Given the description of an element on the screen output the (x, y) to click on. 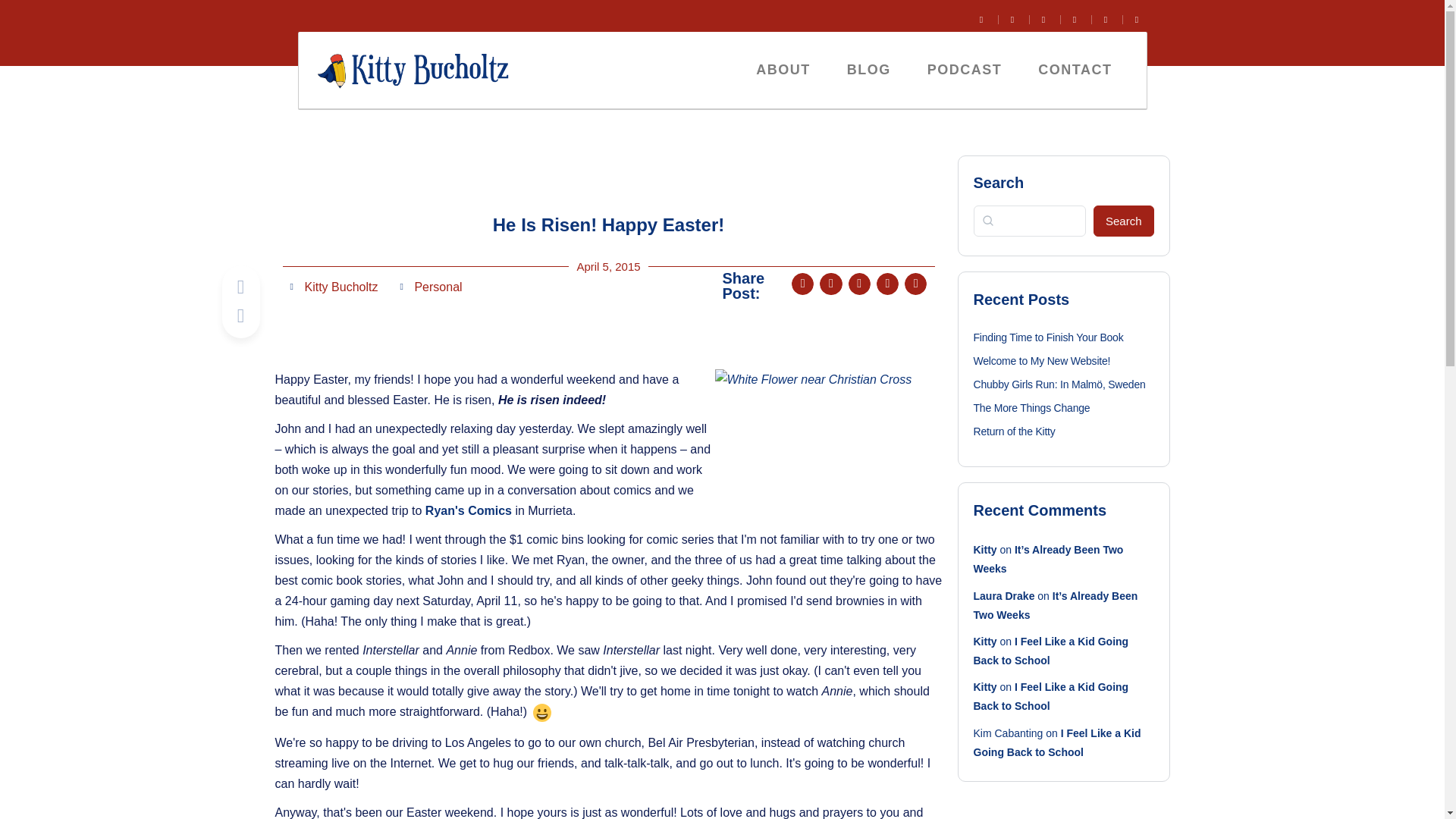
ABOUT (783, 69)
CONTACT (1074, 69)
PODCAST (964, 69)
Search (1123, 221)
Personal (437, 286)
The More Things Change (1032, 408)
Ryan's Comics (468, 510)
BLOG (868, 69)
Finding Time to Finish Your Book (1049, 337)
Kitty Bucholtz (333, 286)
Welcome to My New Website! (1042, 360)
